Given the description of an element on the screen output the (x, y) to click on. 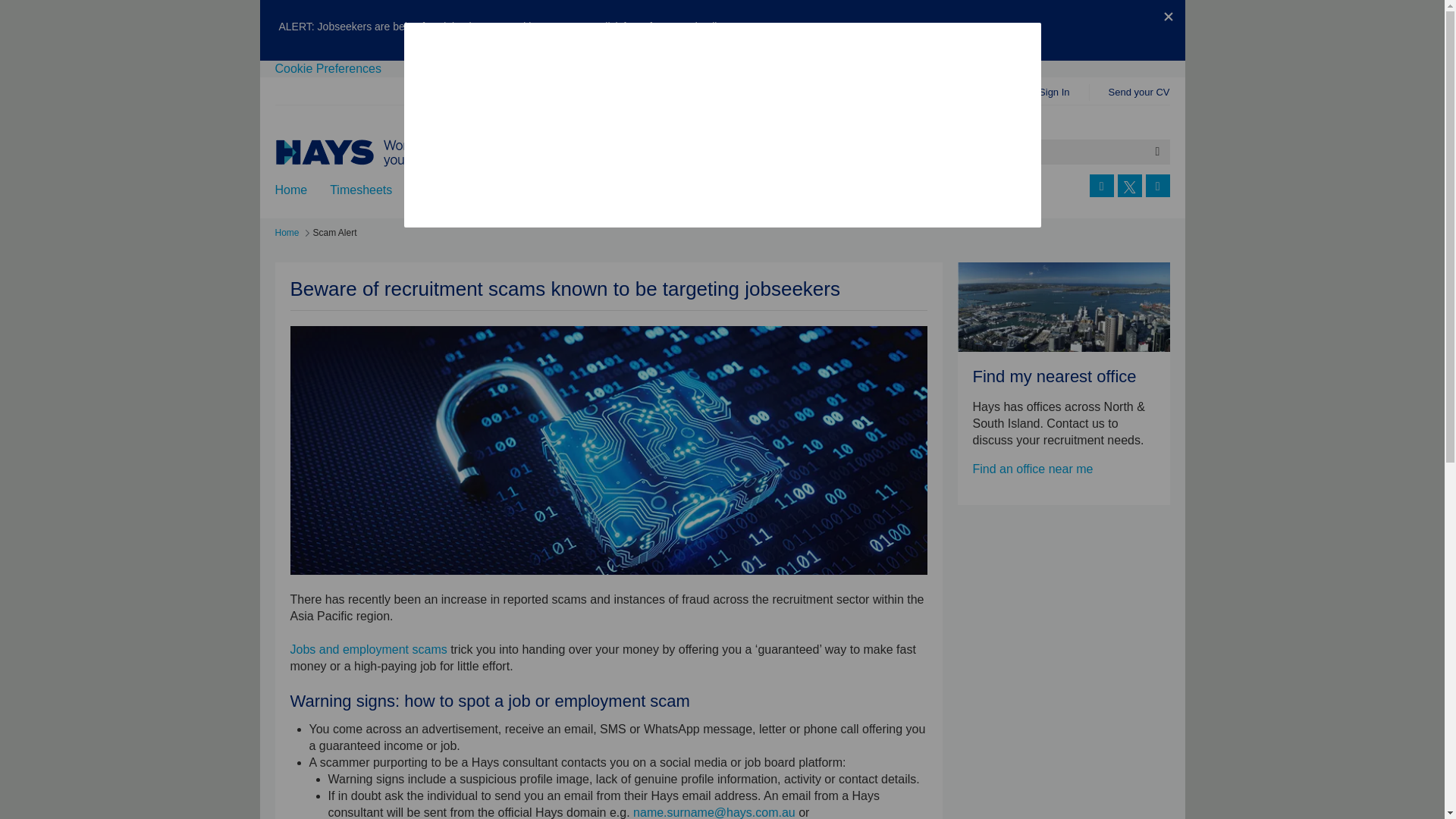
Home (291, 189)
Contact us (898, 189)
Timesheets (360, 189)
Go to Hays NewZealand (392, 153)
Home (286, 232)
Learning (599, 189)
TrustArc Cookie Consent Manager (722, 124)
Work for Hays (693, 189)
Find jobs (439, 189)
Worldwide (988, 189)
